Given the description of an element on the screen output the (x, y) to click on. 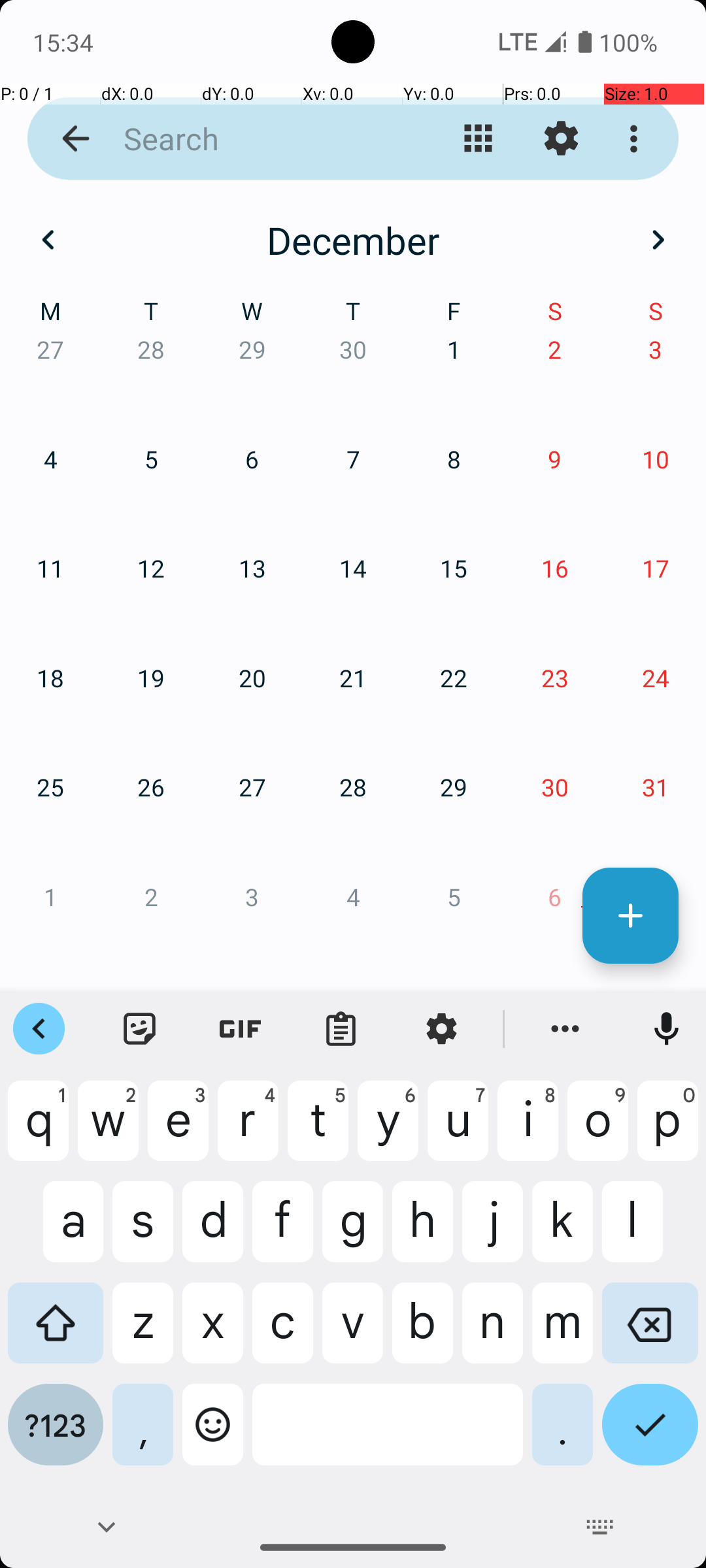
December Element type: android.widget.TextView (352, 239)
